Given the description of an element on the screen output the (x, y) to click on. 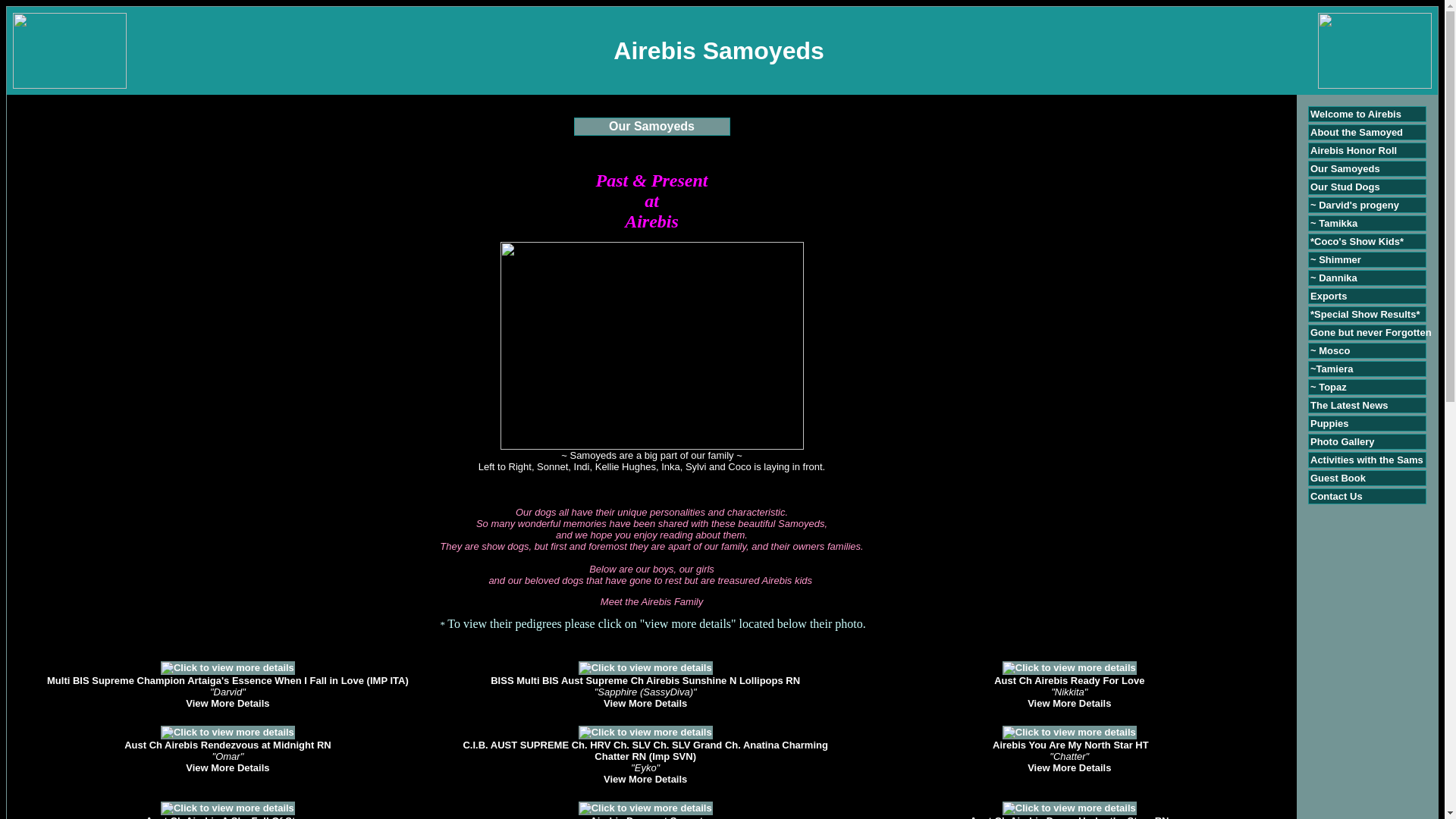
View More Details (1068, 767)
View More Details (645, 703)
View More Details (645, 778)
View More Details (227, 767)
View More Details (227, 703)
View More Details (1068, 703)
